Given the description of an element on the screen output the (x, y) to click on. 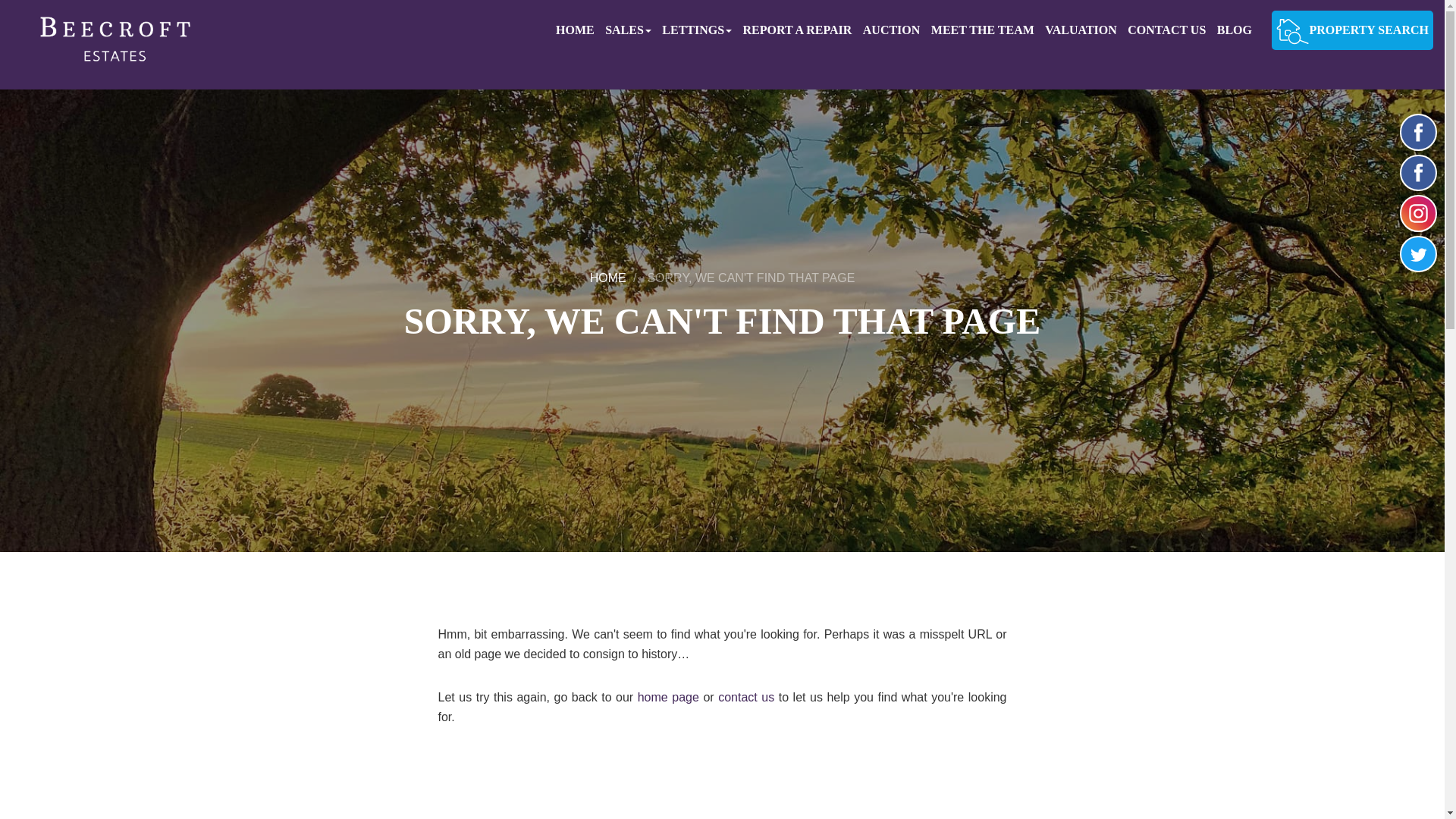
MEET THE TEAM (986, 29)
Beecroft Estates (111, 44)
HOME (607, 277)
CONTACT US (1169, 29)
BLOG (1238, 29)
REPORT A REPAIR (801, 29)
HOME (579, 29)
VALUATION (1084, 29)
AUCTION (895, 29)
SORRY, WE CAN'T FIND THAT PAGE (750, 277)
PROPERTY SEARCH (1351, 29)
contact us (745, 697)
SALES (632, 29)
home page (667, 697)
LETTINGS (700, 29)
